Given the description of an element on the screen output the (x, y) to click on. 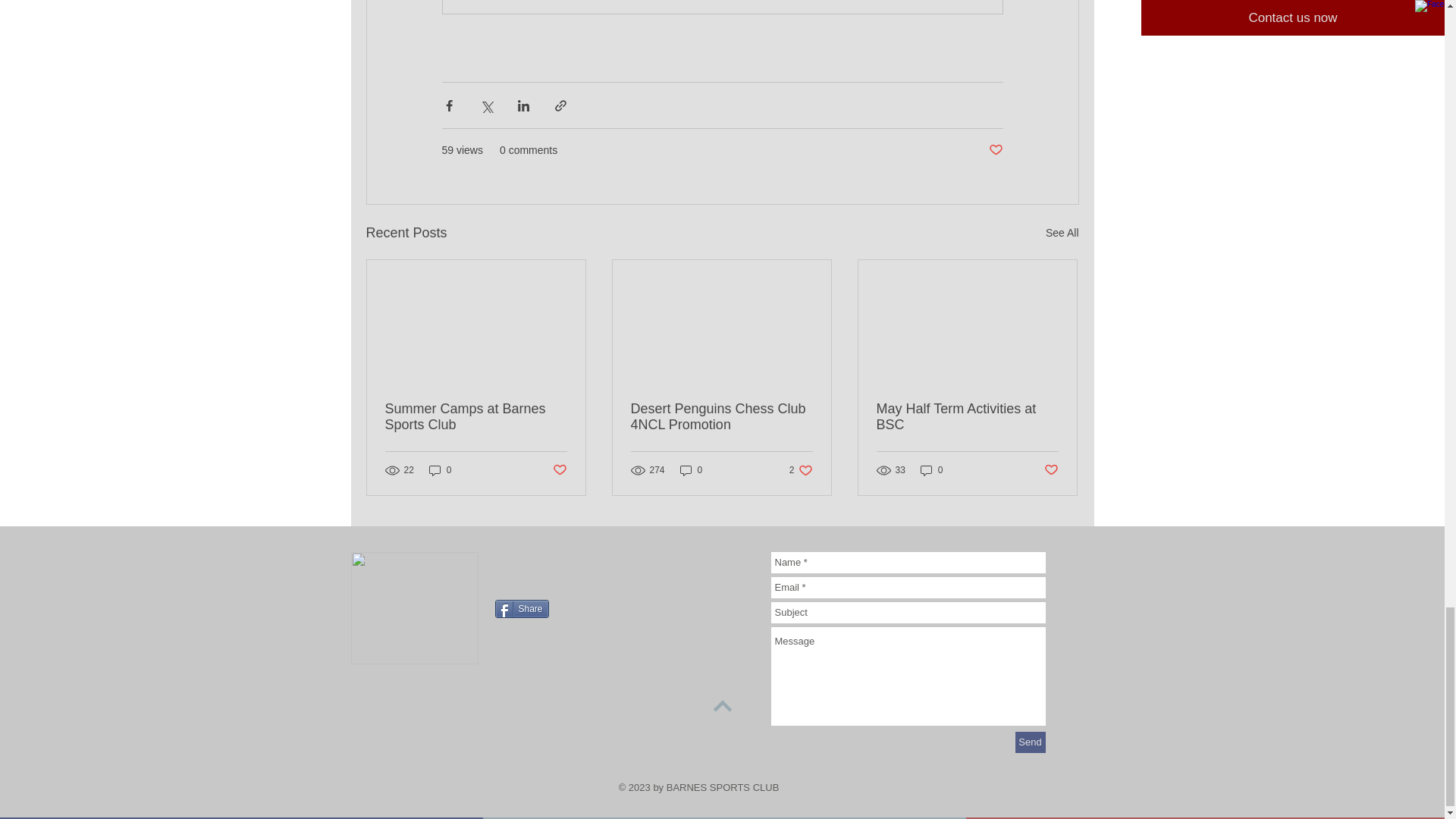
Share (521, 608)
0 (440, 470)
Facebook Like (589, 567)
Post not marked as liked (558, 470)
See All (1061, 232)
Post not marked as liked (800, 470)
0 (1050, 470)
0 (691, 470)
Summer Camps at Barnes Sports Club (931, 470)
May Half Term Activities at BSC (476, 417)
Post not marked as liked (967, 417)
Desert Penguins Chess Club 4NCL Promotion (995, 150)
